Given the description of an element on the screen output the (x, y) to click on. 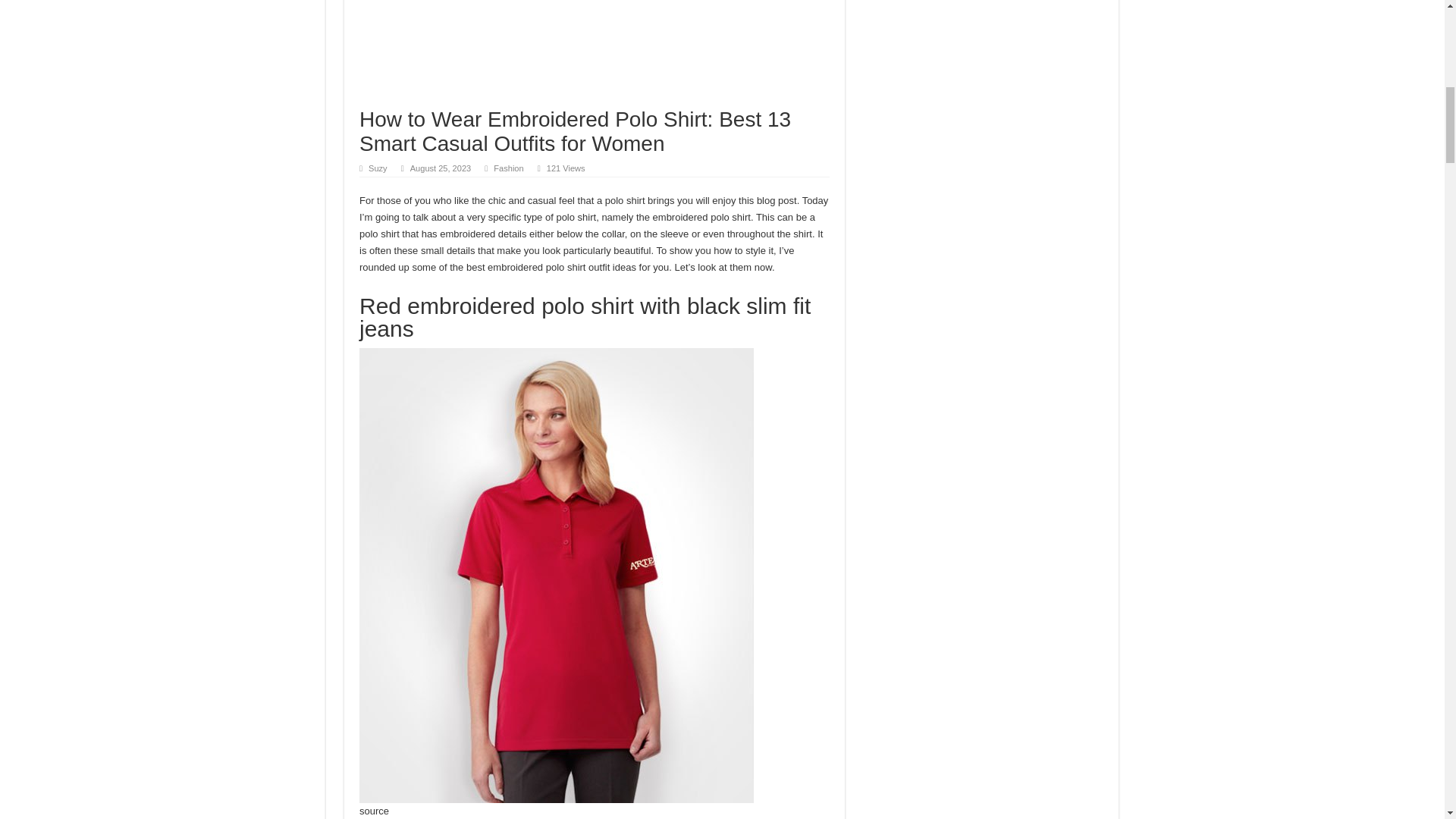
Suzy (377, 167)
Advertisement (594, 53)
Fashion (507, 167)
